Given the description of an element on the screen output the (x, y) to click on. 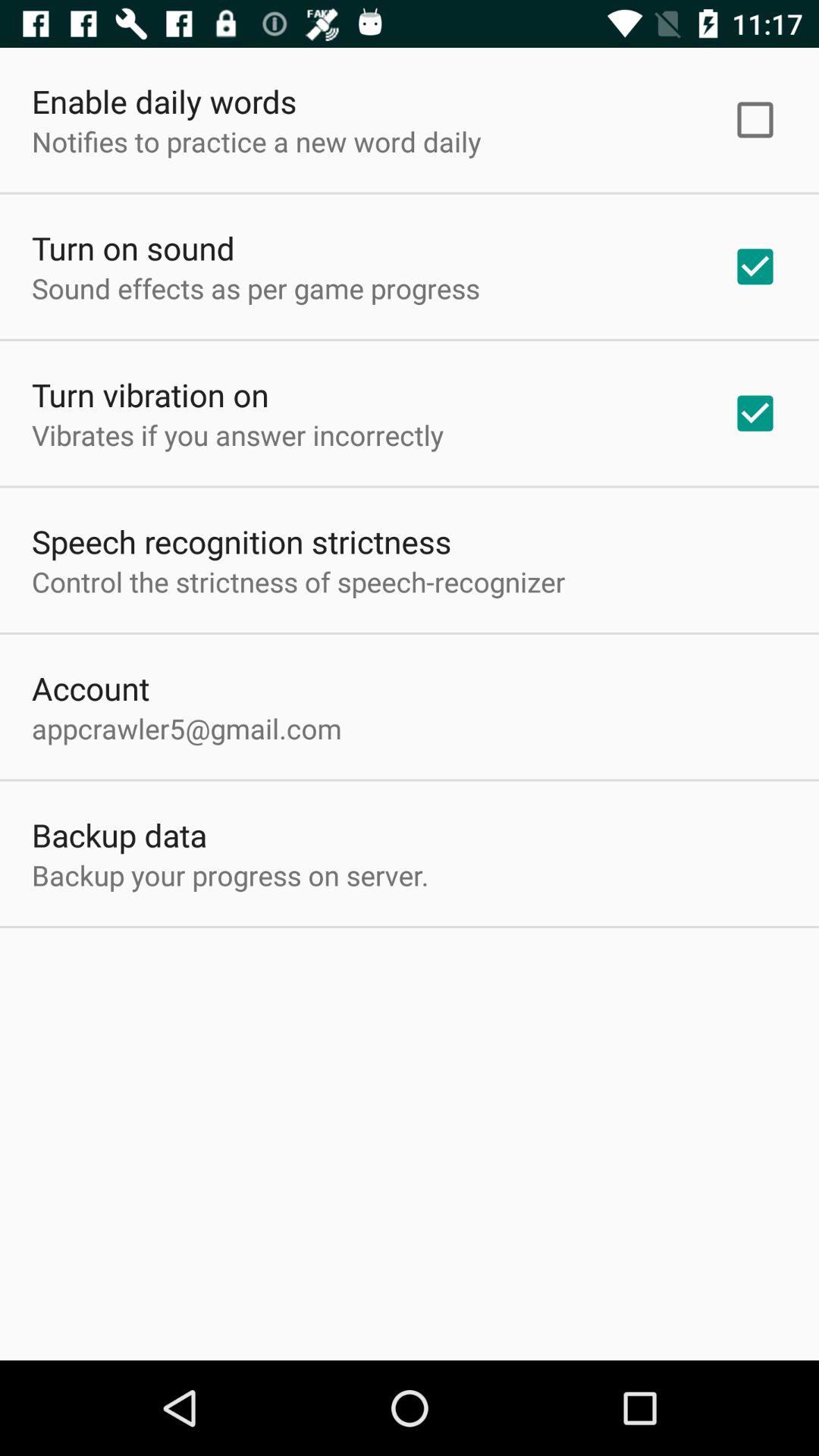
select app below control the strictness app (90, 687)
